Given the description of an element on the screen output the (x, y) to click on. 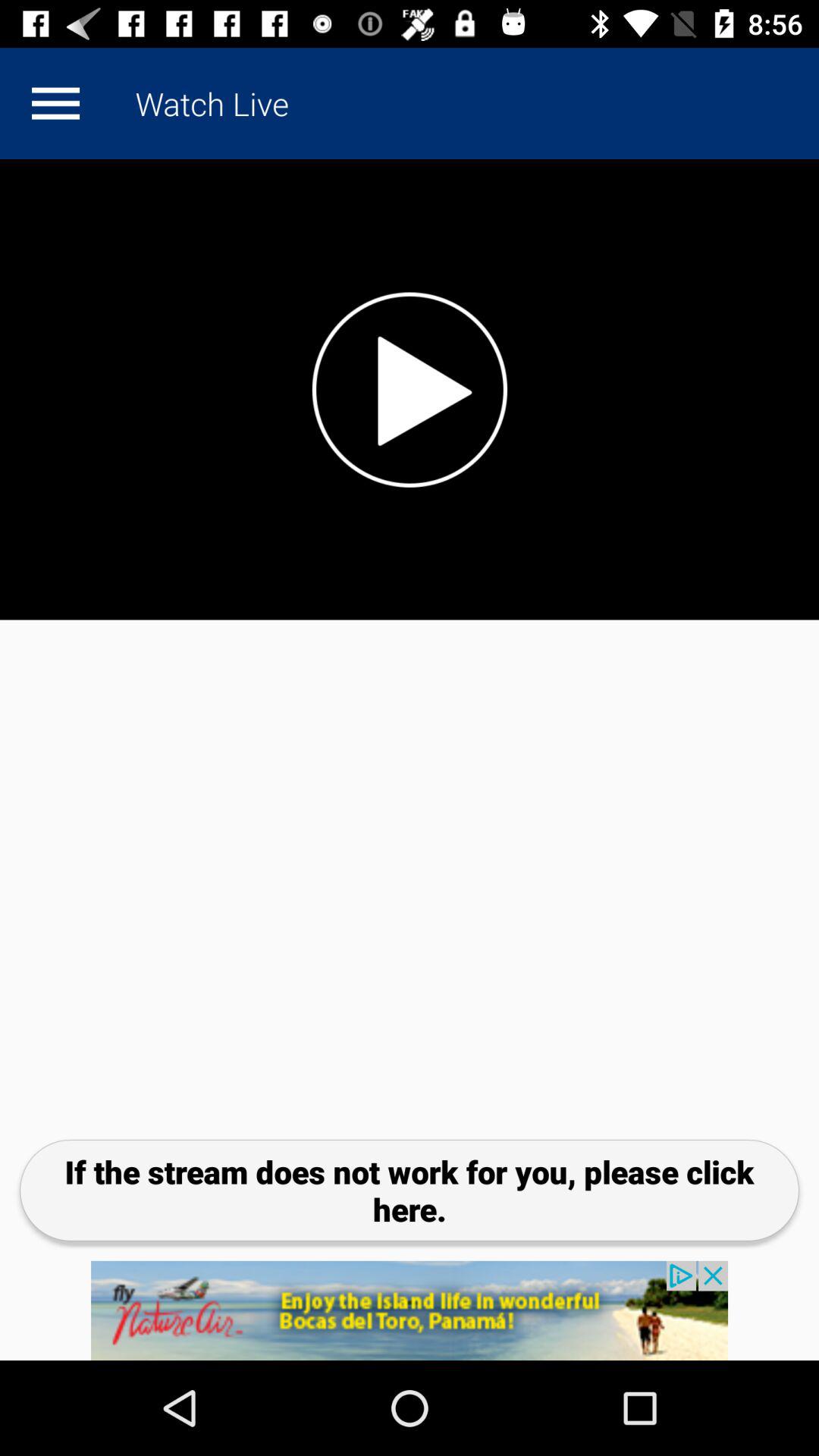
more option (55, 103)
